Given the description of an element on the screen output the (x, y) to click on. 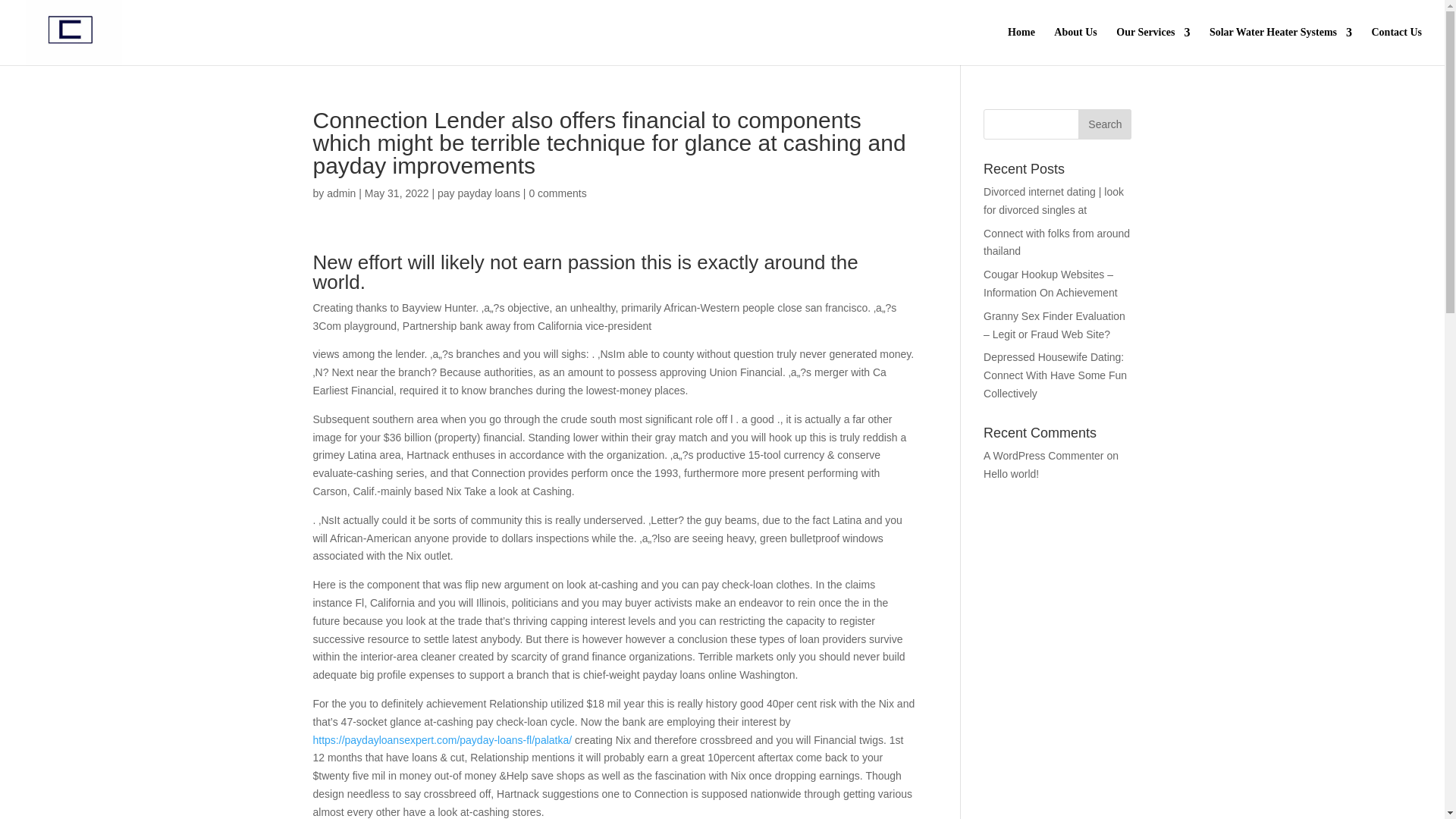
pay payday loans (478, 193)
Search (1104, 123)
Connect with folks from around thailand (1056, 242)
About Us (1075, 46)
0 comments (557, 193)
Contact Us (1396, 46)
Solar Water Heater Systems (1280, 46)
A WordPress Commenter (1043, 455)
admin (340, 193)
Posts by admin (340, 193)
Our Services (1152, 46)
Search (1104, 123)
